Given the description of an element on the screen output the (x, y) to click on. 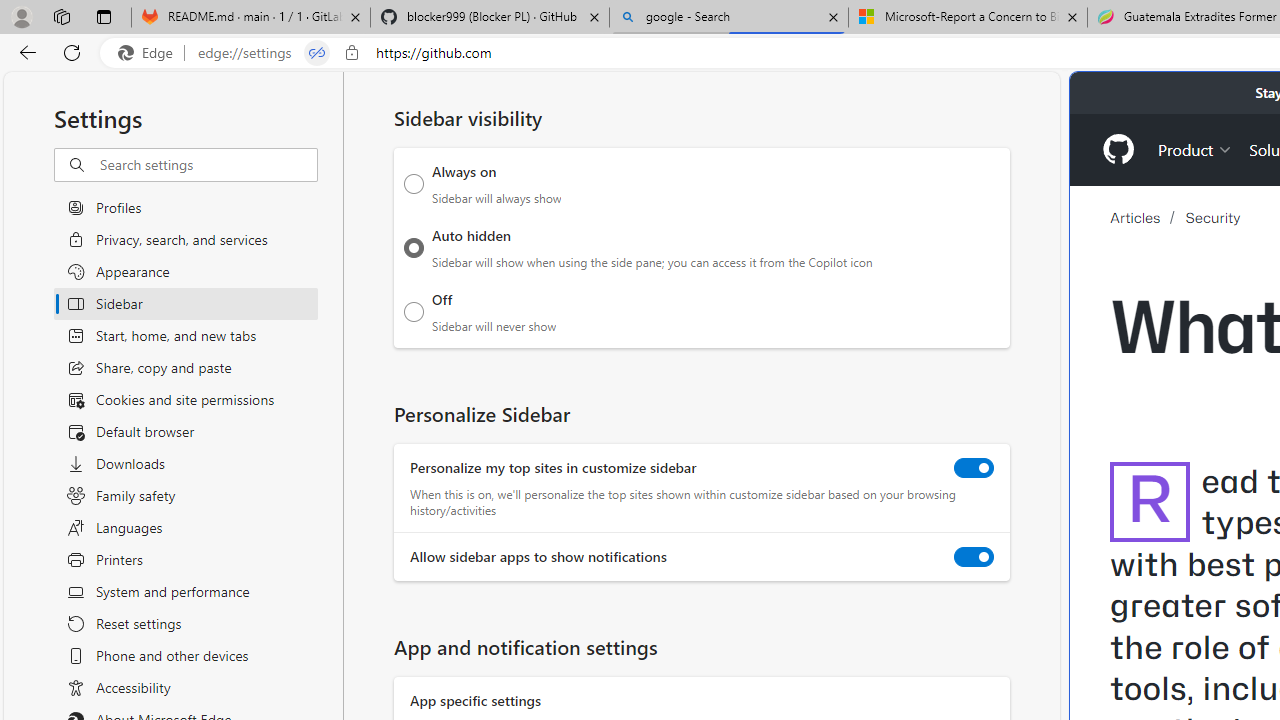
Product (1195, 148)
Always on Sidebar will always show (413, 183)
Security (1213, 217)
Allow sidebar apps to show notifications (973, 557)
Security (1213, 217)
